Given the description of an element on the screen output the (x, y) to click on. 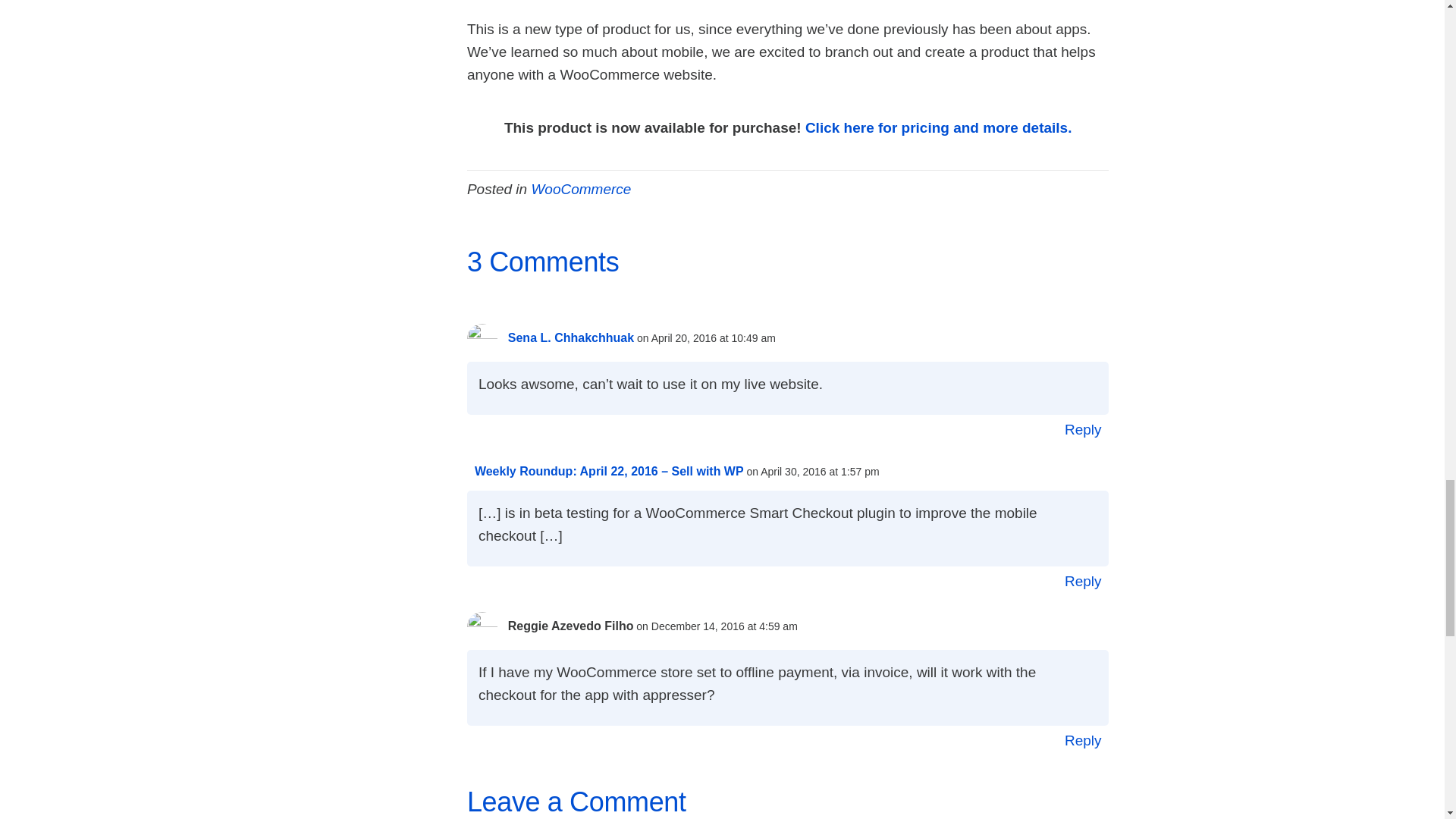
Click here for pricing and more details. (938, 127)
Sena L. Chhakchhuak (570, 337)
Reply (1083, 429)
WooCommerce (580, 188)
